Given the description of an element on the screen output the (x, y) to click on. 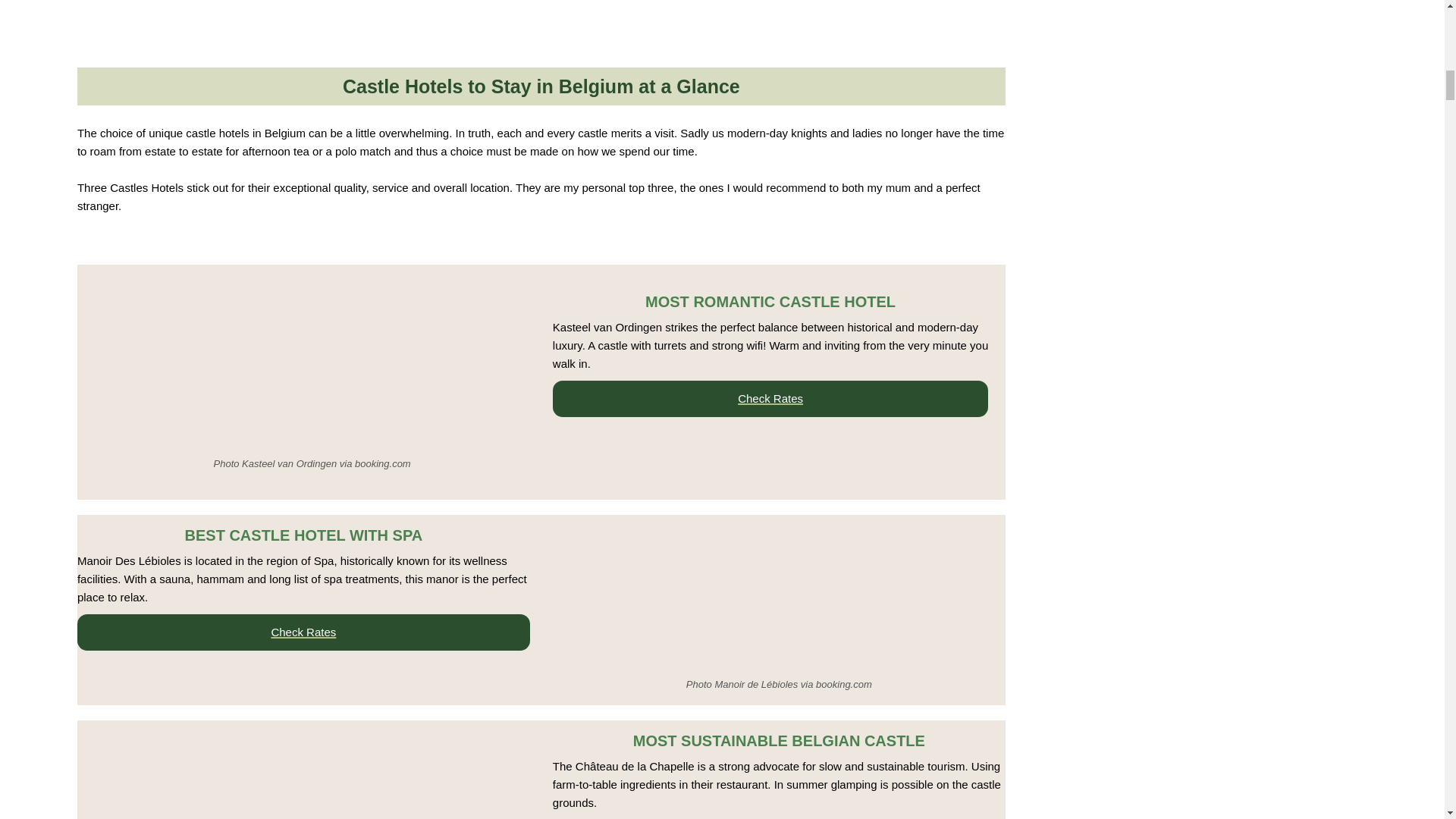
16 Castle Hotels in Belgium (670, 592)
Brussels Belgium (474, 12)
16 Castle Hotels in Belgium (303, 769)
16 Castle Hotels in Belgium (311, 365)
